Given the description of an element on the screen output the (x, y) to click on. 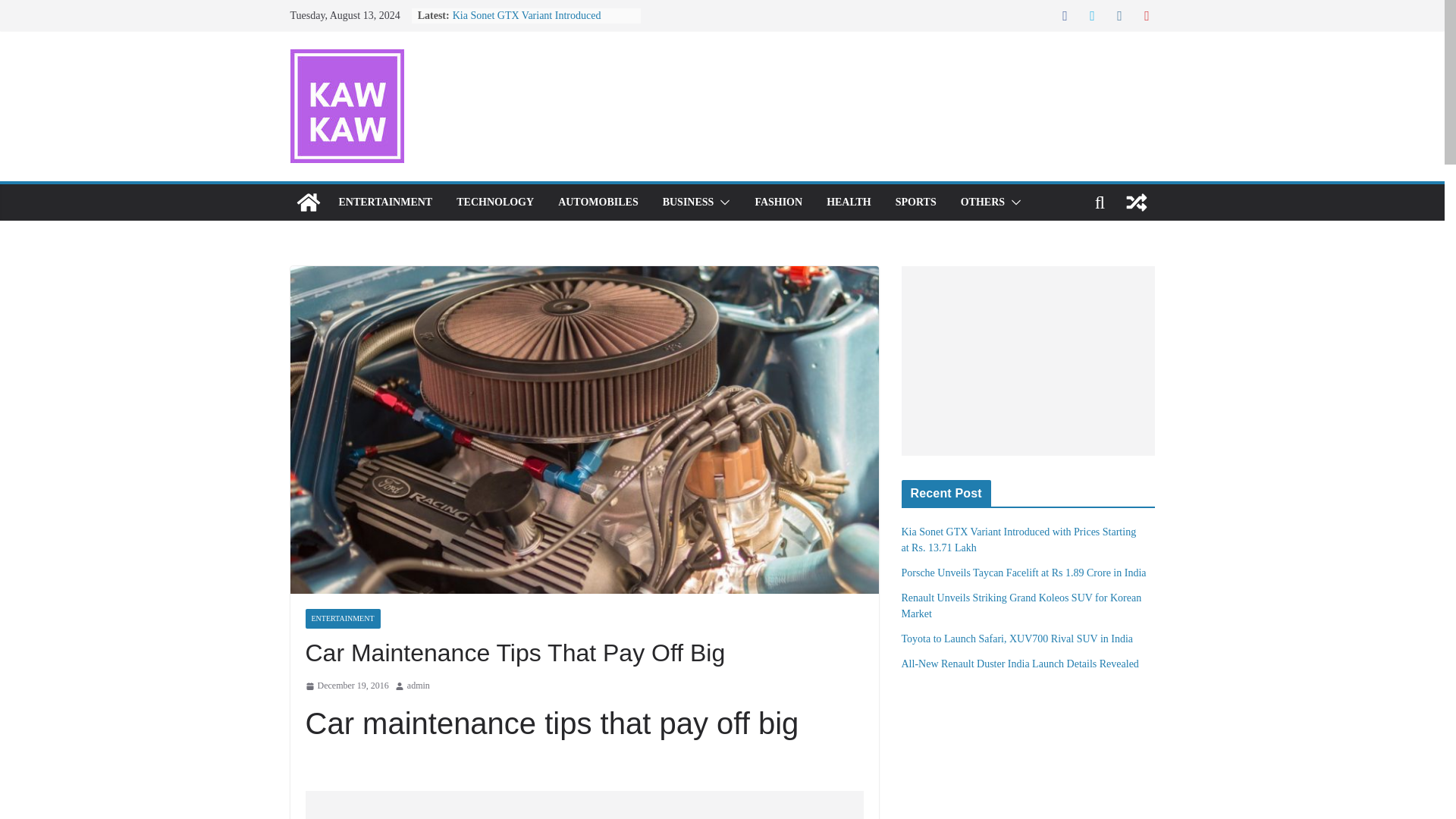
6:47 am (346, 686)
AUTOMOBILES (598, 201)
SPORTS (915, 201)
December 19, 2016 (346, 686)
TECHNOLOGY (495, 201)
ENTERTAINMENT (384, 201)
admin (418, 686)
FASHION (778, 201)
OTHERS (982, 201)
BUSINESS (688, 201)
